Given the description of an element on the screen output the (x, y) to click on. 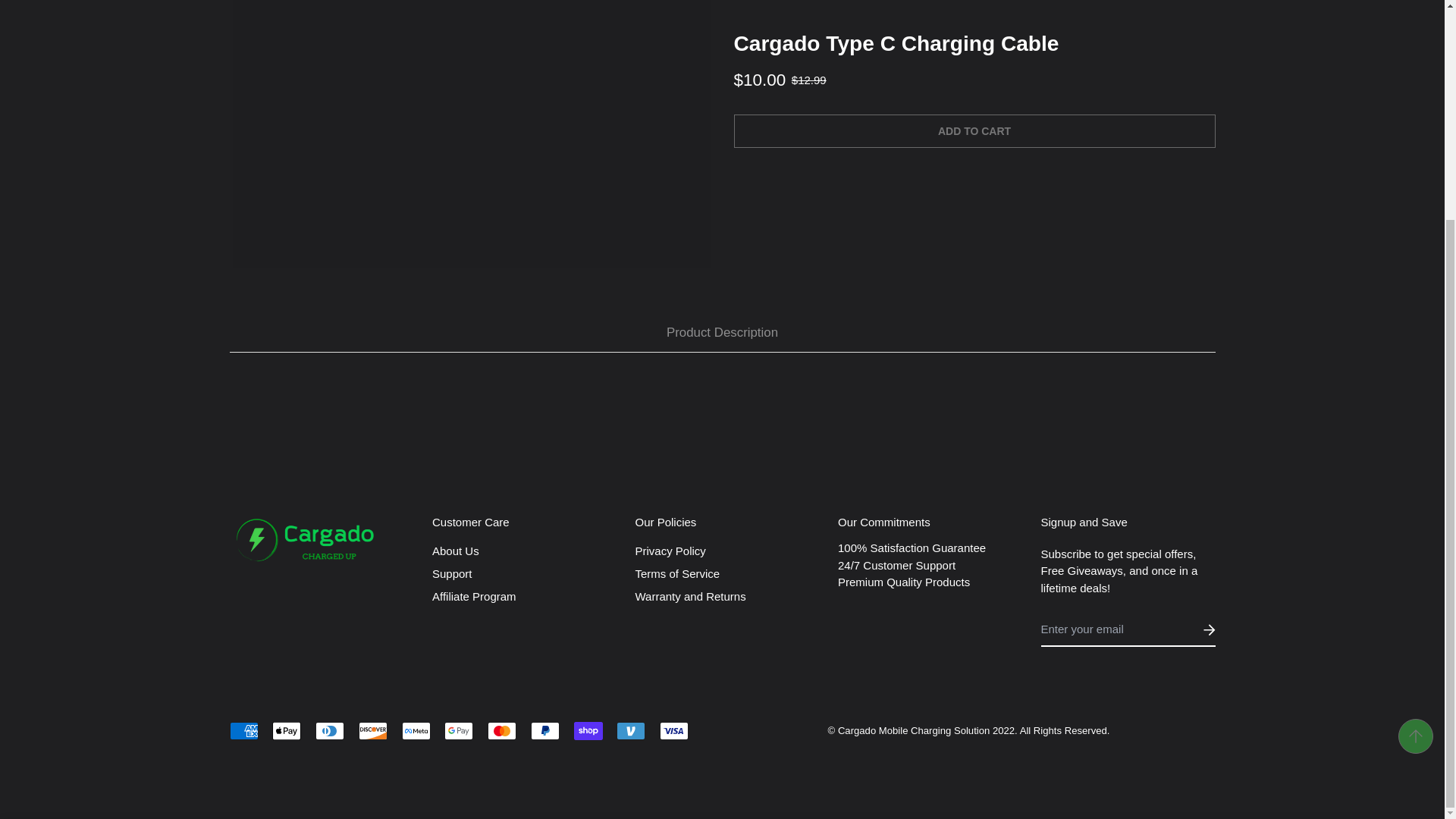
About Us (455, 551)
Affiliate Program (474, 597)
Privacy Policy (670, 551)
Terms of Service (677, 574)
Support (451, 574)
